Given the description of an element on the screen output the (x, y) to click on. 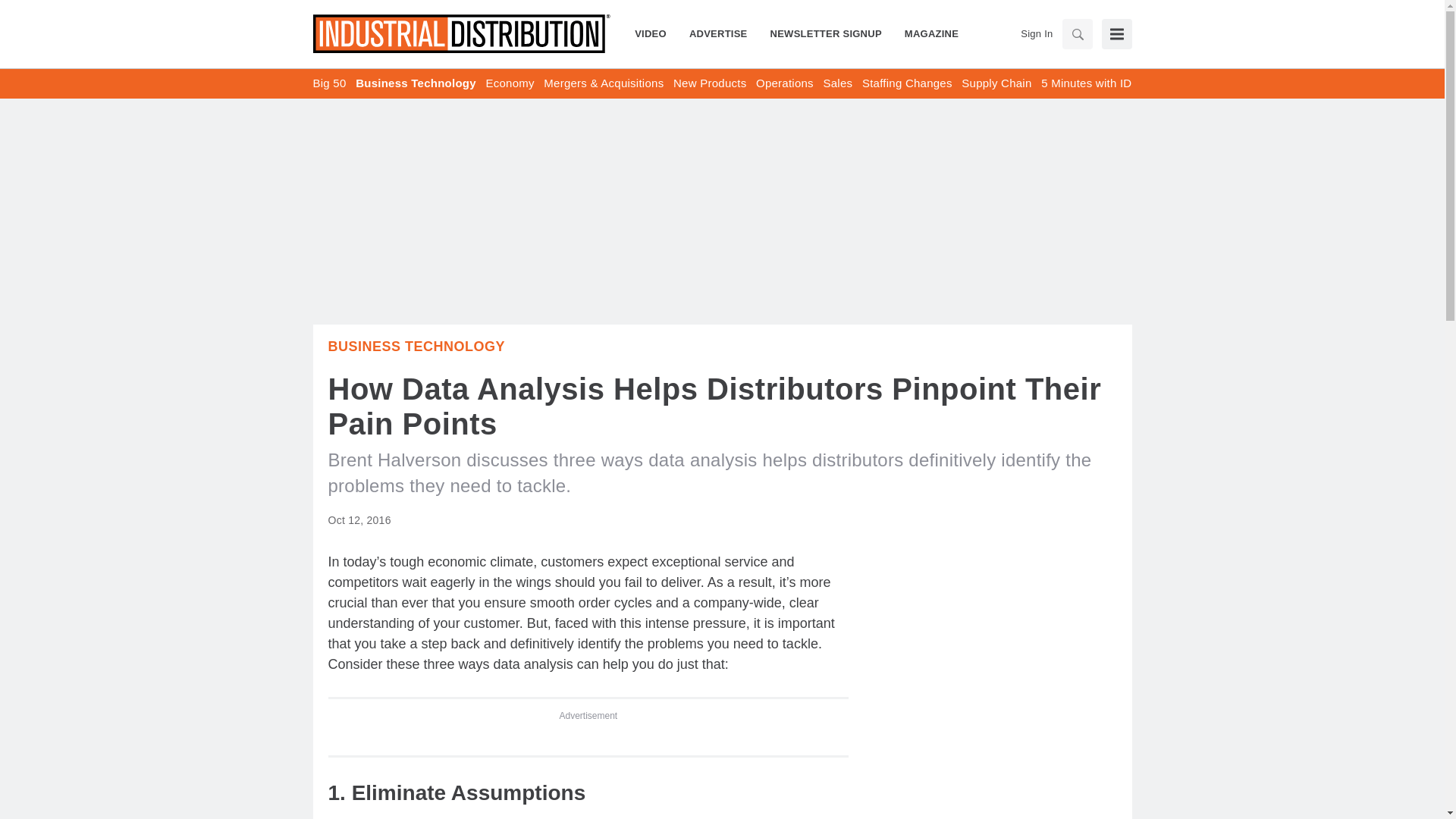
Business Technology (416, 346)
Staffing Changes (906, 83)
Sales (836, 83)
Operations (784, 83)
Business Technology (415, 83)
Big 50 (329, 83)
Sign In (1036, 33)
MAGAZINE (925, 33)
5 Minutes with ID (1086, 83)
ADVERTISE (718, 33)
Economy (509, 83)
Supply Chain (995, 83)
New Products (708, 83)
NEWSLETTER SIGNUP (825, 33)
VIDEO (656, 33)
